Given the description of an element on the screen output the (x, y) to click on. 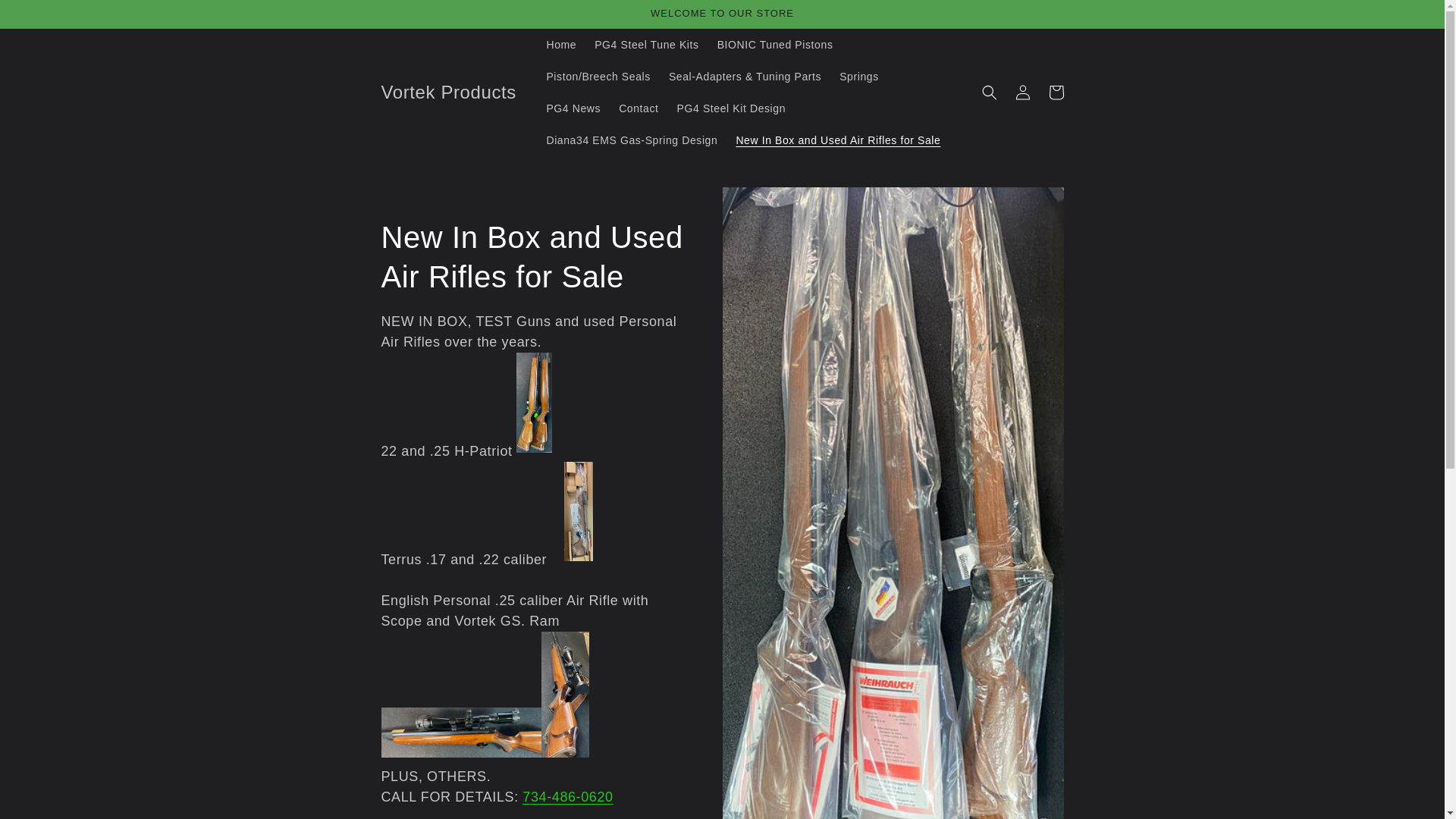
Contact (638, 108)
New In Box and Used Air Rifles for Sale (837, 140)
PG4 Steel Tune Kits (646, 44)
Warenkorb (1055, 92)
Einloggen (1022, 92)
Vortek Products (448, 92)
PG4 Steel Kit Design (731, 108)
BIONIC Tuned Pistons (775, 44)
Home (561, 44)
Springs (858, 76)
734-486-0620 (567, 796)
Direkt zum Inhalt (45, 17)
PG4 News (573, 108)
Diana34 EMS Gas-Spring Design (631, 140)
